Given the description of an element on the screen output the (x, y) to click on. 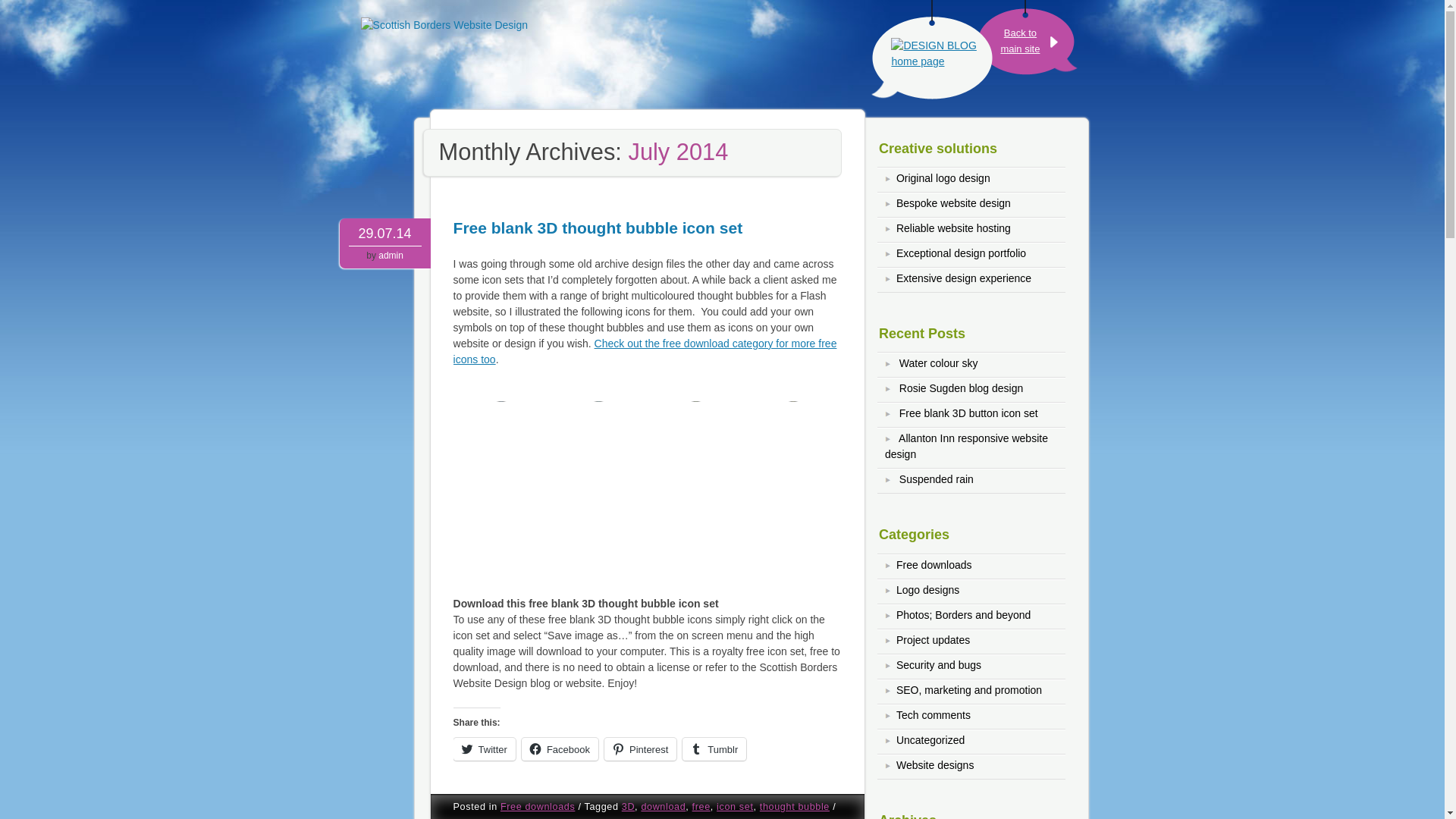
Rosie Sugden blog design (961, 387)
Free blank 3D thought bubble icon set (597, 227)
Click to share on Facebook (559, 748)
View all posts by admin (390, 255)
Bespoke website design (953, 203)
Reliable website hosting (953, 227)
Free blank 3D button icon set (968, 413)
Scottish Borders Website Design (492, 53)
admin (390, 255)
Twitter (1019, 40)
Water colour sky (483, 748)
Click to share on Twitter (938, 363)
Exceptional design portfolio (483, 748)
Facebook (961, 253)
